Given the description of an element on the screen output the (x, y) to click on. 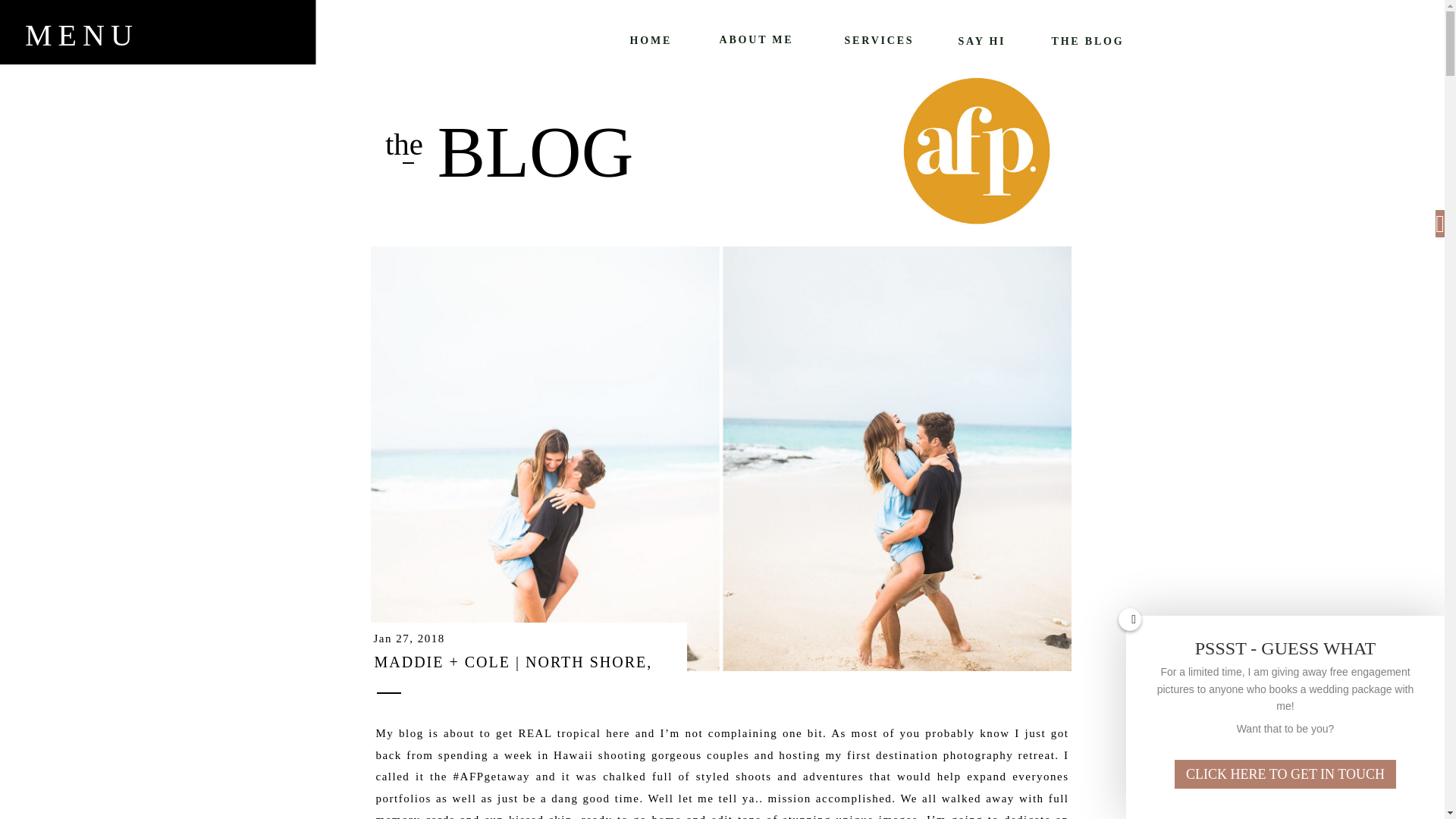
SAY HI (991, 39)
ABOUT ME (997, 672)
ABOUT ME (759, 38)
HOME (651, 38)
SERVICES (998, 698)
HOME (997, 647)
SAY HI (998, 722)
SERVICES (880, 38)
THE BLOG (1088, 39)
CLICK HERE TO GET IN TOUCH (1285, 774)
